Given the description of an element on the screen output the (x, y) to click on. 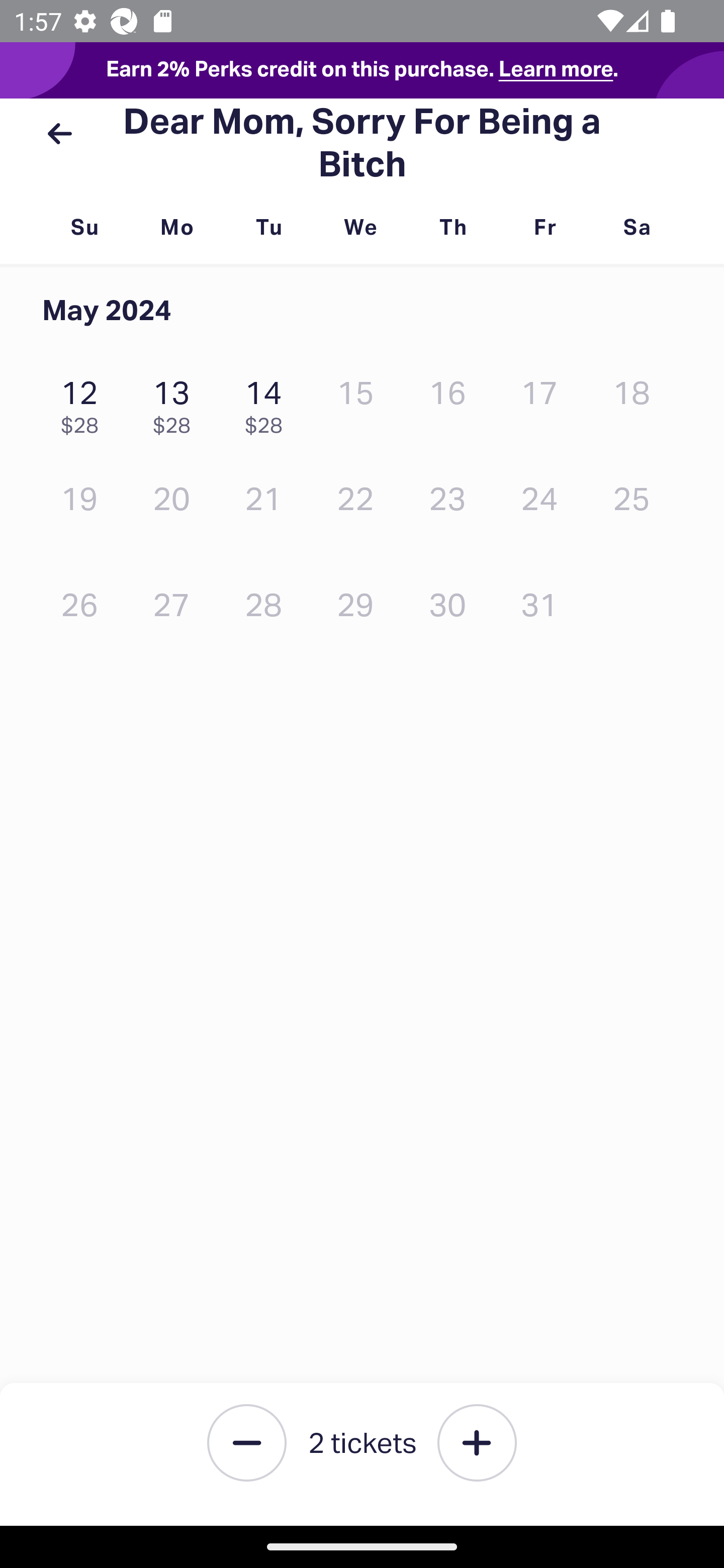
Earn 2% Perks credit on this purchase. Learn more. (362, 70)
back button (59, 133)
12 $28 (84, 401)
13 $28 (176, 401)
14 $28 (268, 401)
